Given the description of an element on the screen output the (x, y) to click on. 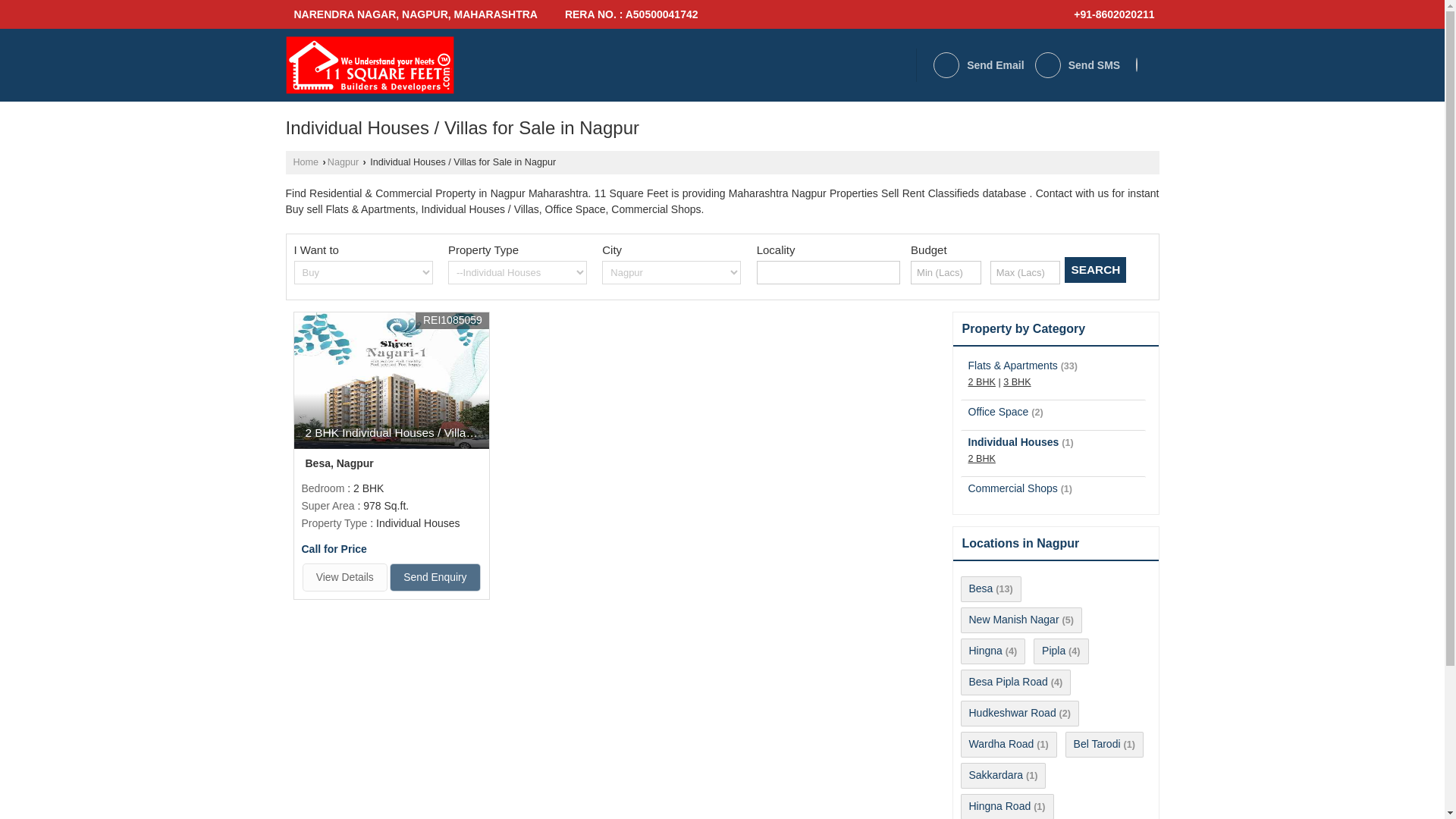
Send SMS (1077, 64)
Send Email (978, 64)
11 Square Feet (368, 65)
SEARCH (1094, 269)
